Given the description of an element on the screen output the (x, y) to click on. 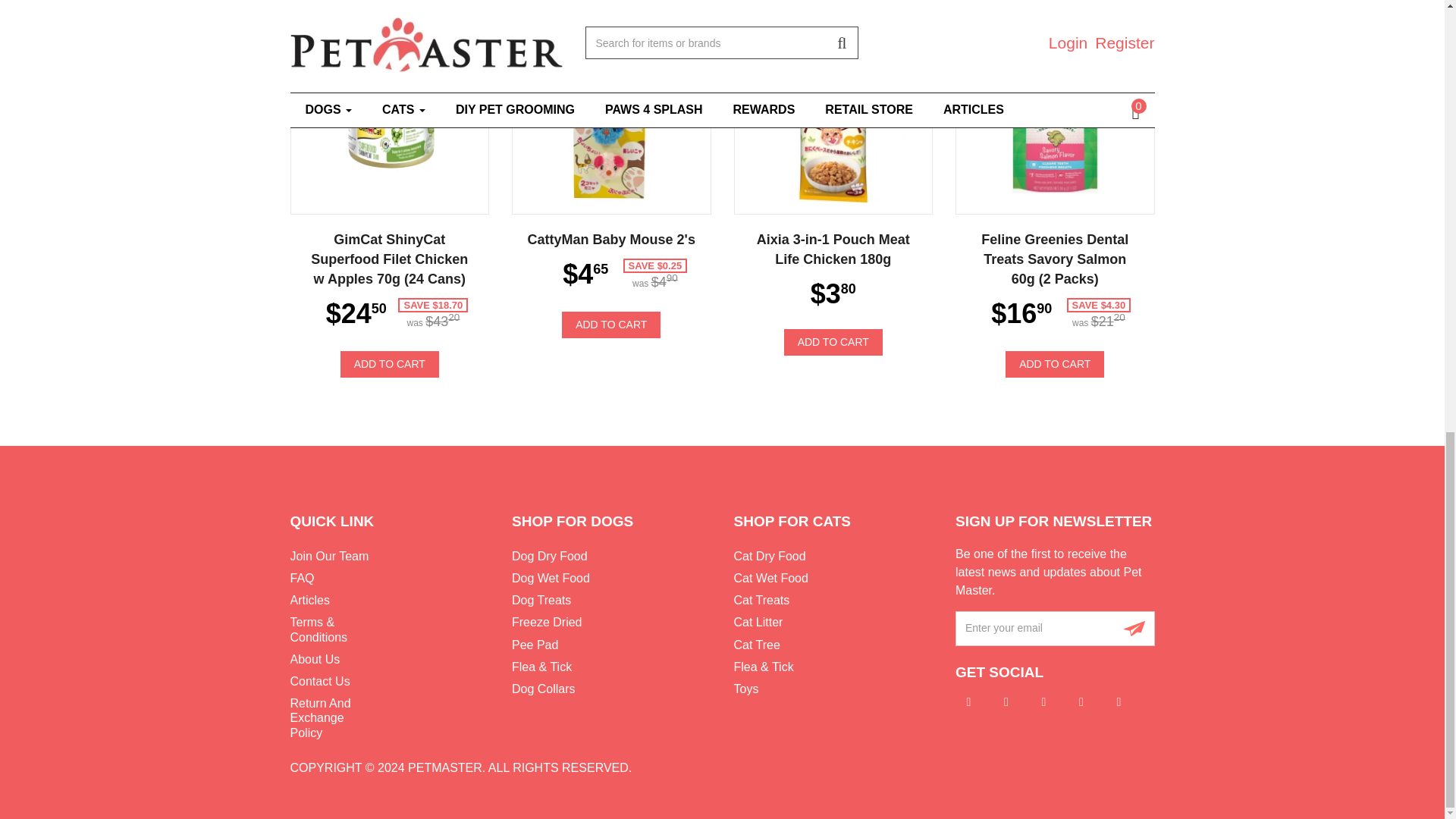
CattyMan Baby Mouse 2's (610, 128)
Aixia 3-in-1 Pouch Meat Life Chicken 180g (833, 128)
